Given the description of an element on the screen output the (x, y) to click on. 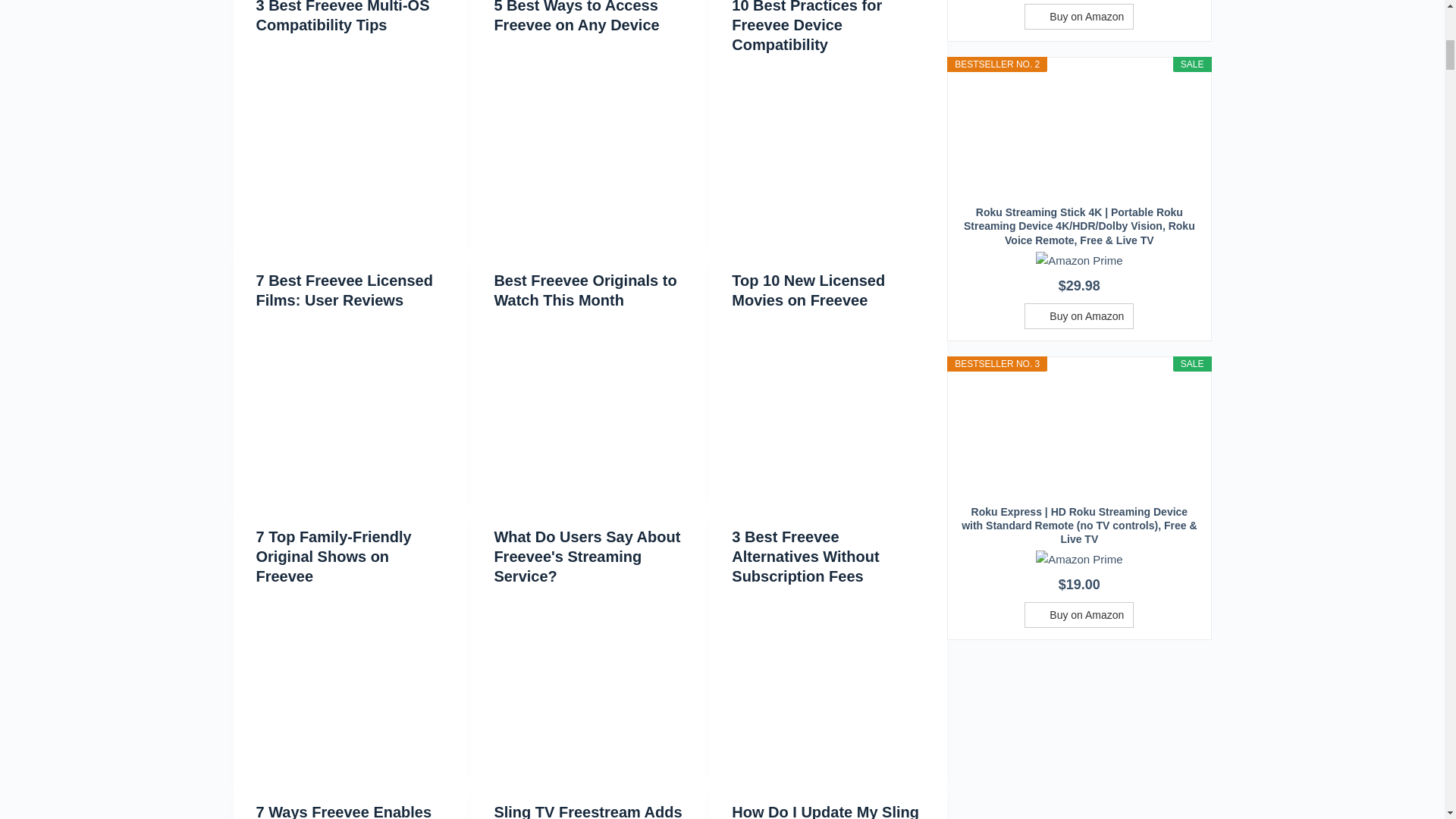
Amazon Prime (1078, 558)
Buy on Amazon (1079, 16)
Buy on Amazon (1079, 614)
Buy on Amazon (1079, 316)
Amazon Prime (1078, 259)
